Given the description of an element on the screen output the (x, y) to click on. 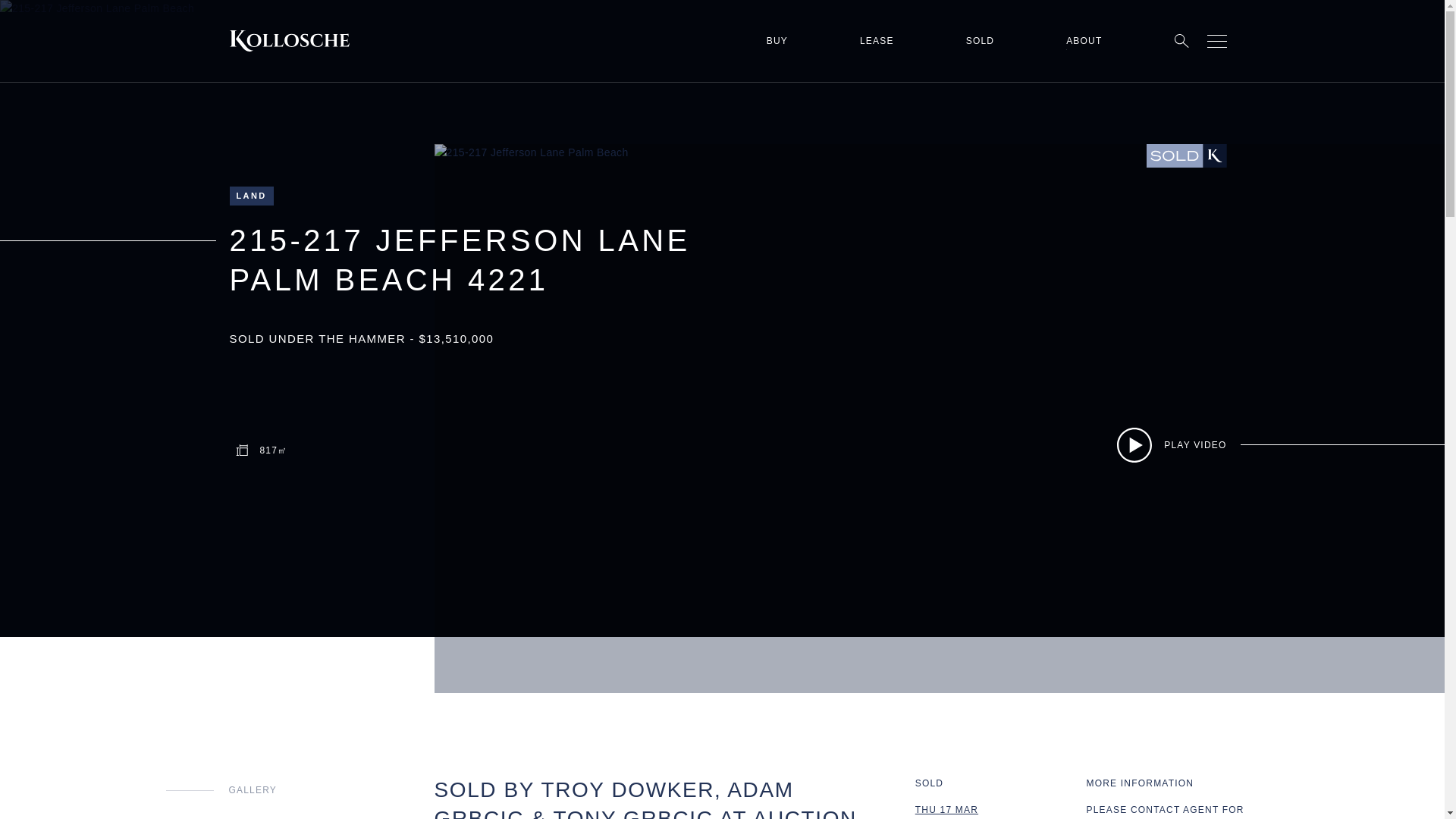
SOLD (980, 41)
Kollosche (288, 40)
BUY (777, 41)
ABOUT (1083, 41)
LEASE (876, 41)
